Given the description of an element on the screen output the (x, y) to click on. 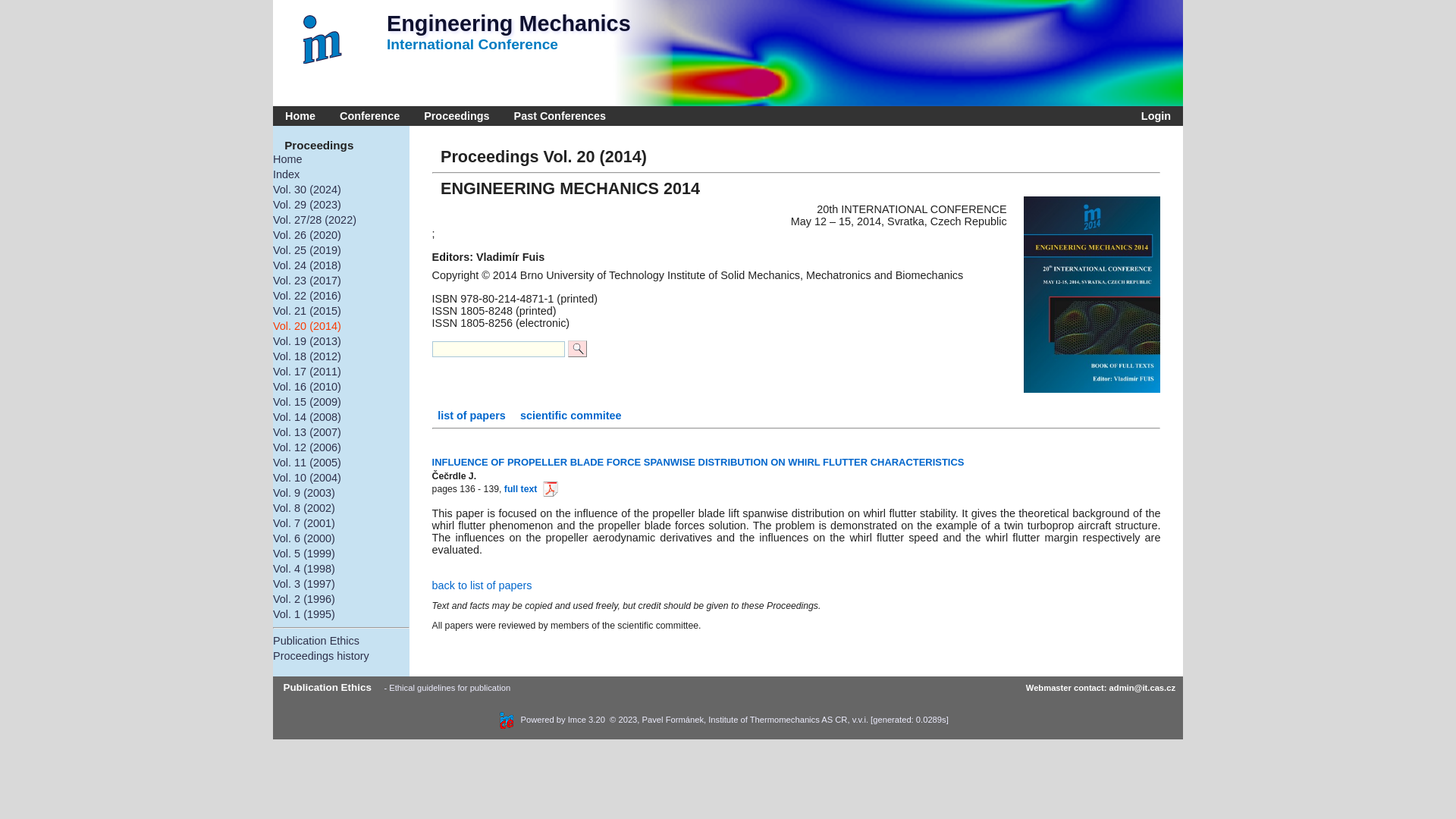
Home (341, 159)
Index (341, 174)
Proceedings (456, 116)
Home (300, 116)
  Login (1152, 116)
IM (325, 39)
